Given the description of an element on the screen output the (x, y) to click on. 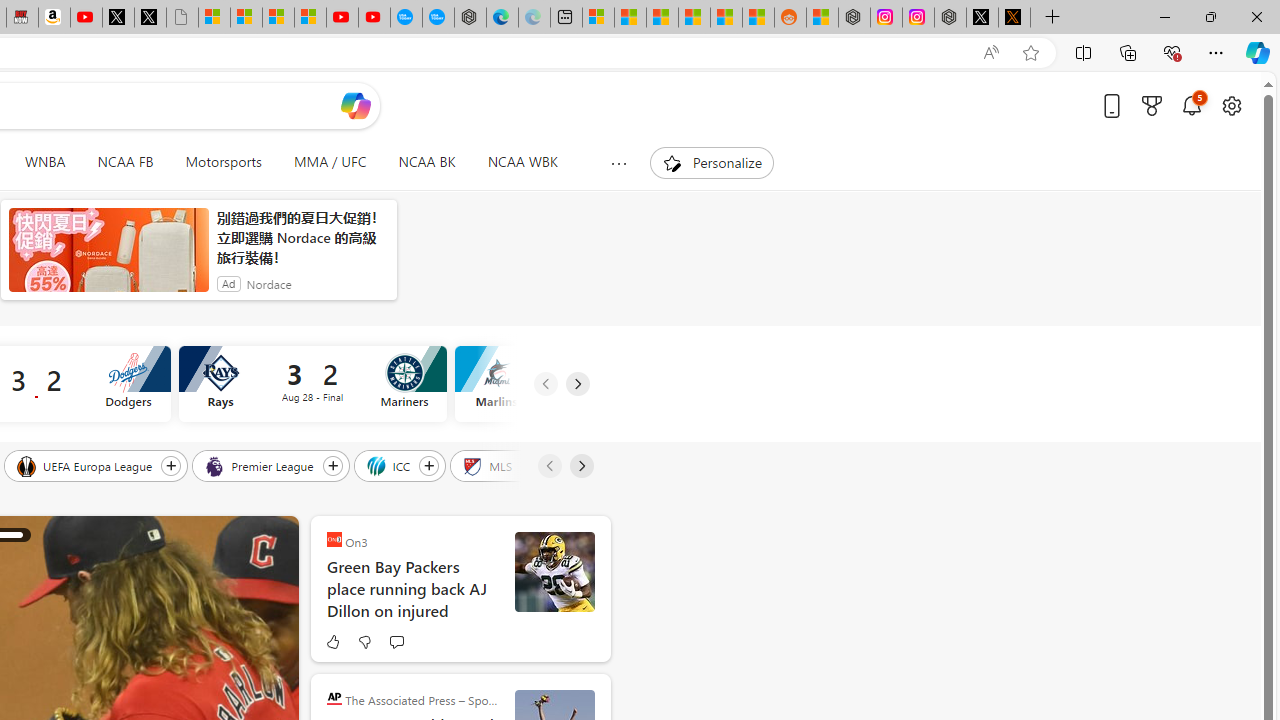
Rays 3 vs Mariners 2Final Date Aug 28 (311, 383)
Show more topics (617, 163)
Shanghai, China Weather trends | Microsoft Weather (758, 17)
Follow UEFA Europa League (171, 465)
NCAA BK (426, 162)
Next (580, 465)
MMA / UFC (329, 162)
Motorsports (223, 162)
